Given the description of an element on the screen output the (x, y) to click on. 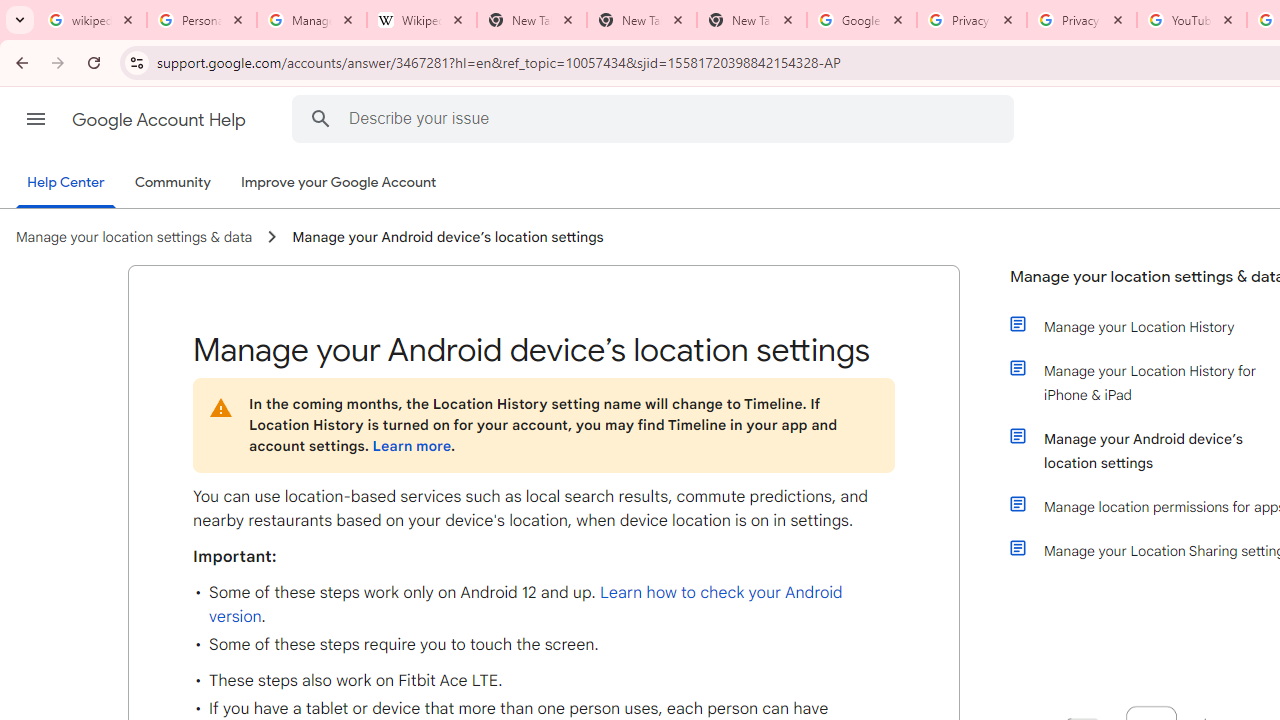
Community (171, 183)
Improve your Google Account (339, 183)
New Tab (642, 20)
Personalization & Google Search results - Google Search Help (202, 20)
Google Drive: Sign-in (861, 20)
Learn how to check your Android version (525, 605)
Learn more (411, 446)
Google Account Help (160, 119)
Manage your Location History - Google Search Help (312, 20)
